Given the description of an element on the screen output the (x, y) to click on. 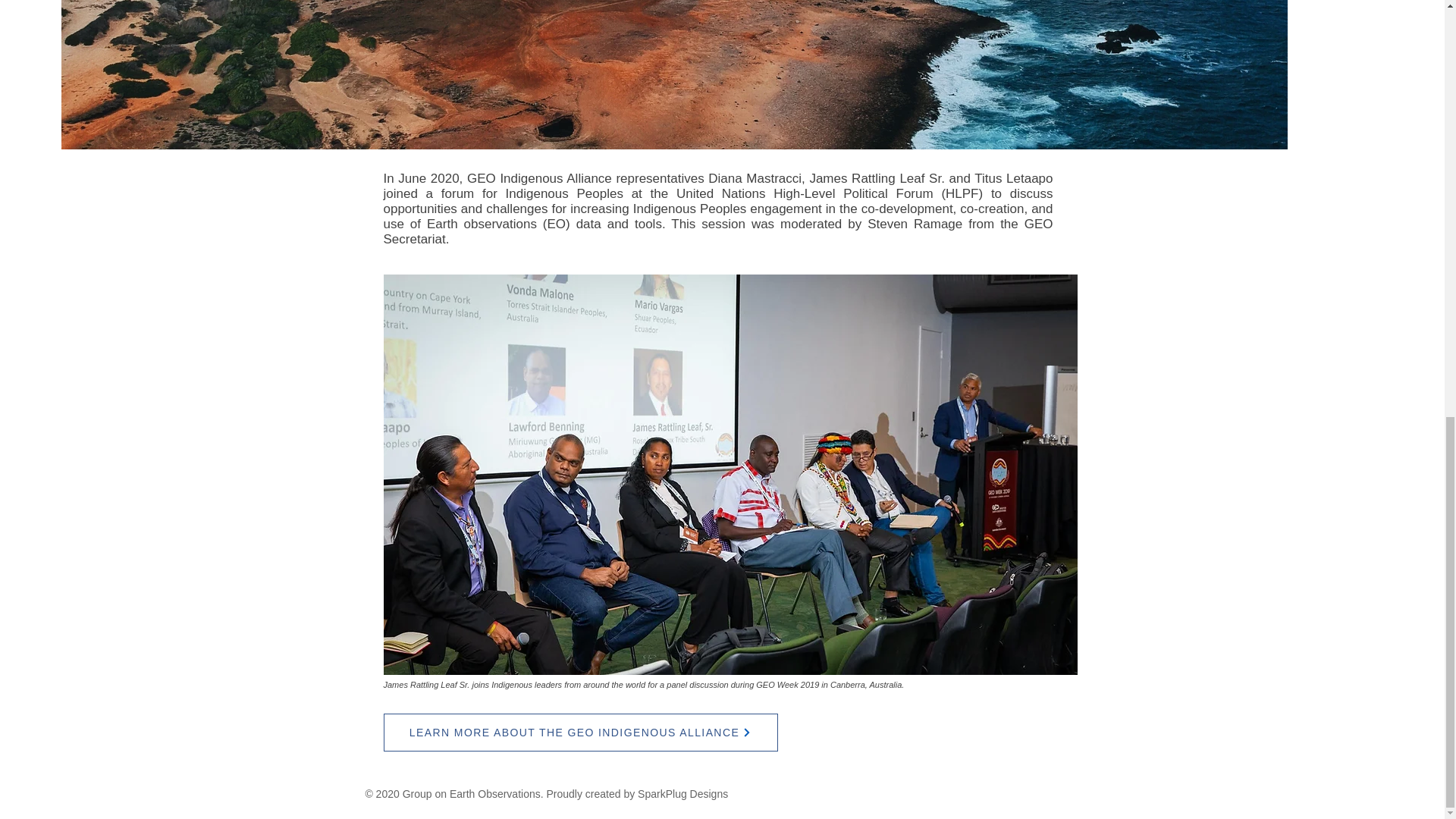
LEARN MORE ABOUT THE GEO INDIGENOUS ALLIANCE (580, 732)
